Given the description of an element on the screen output the (x, y) to click on. 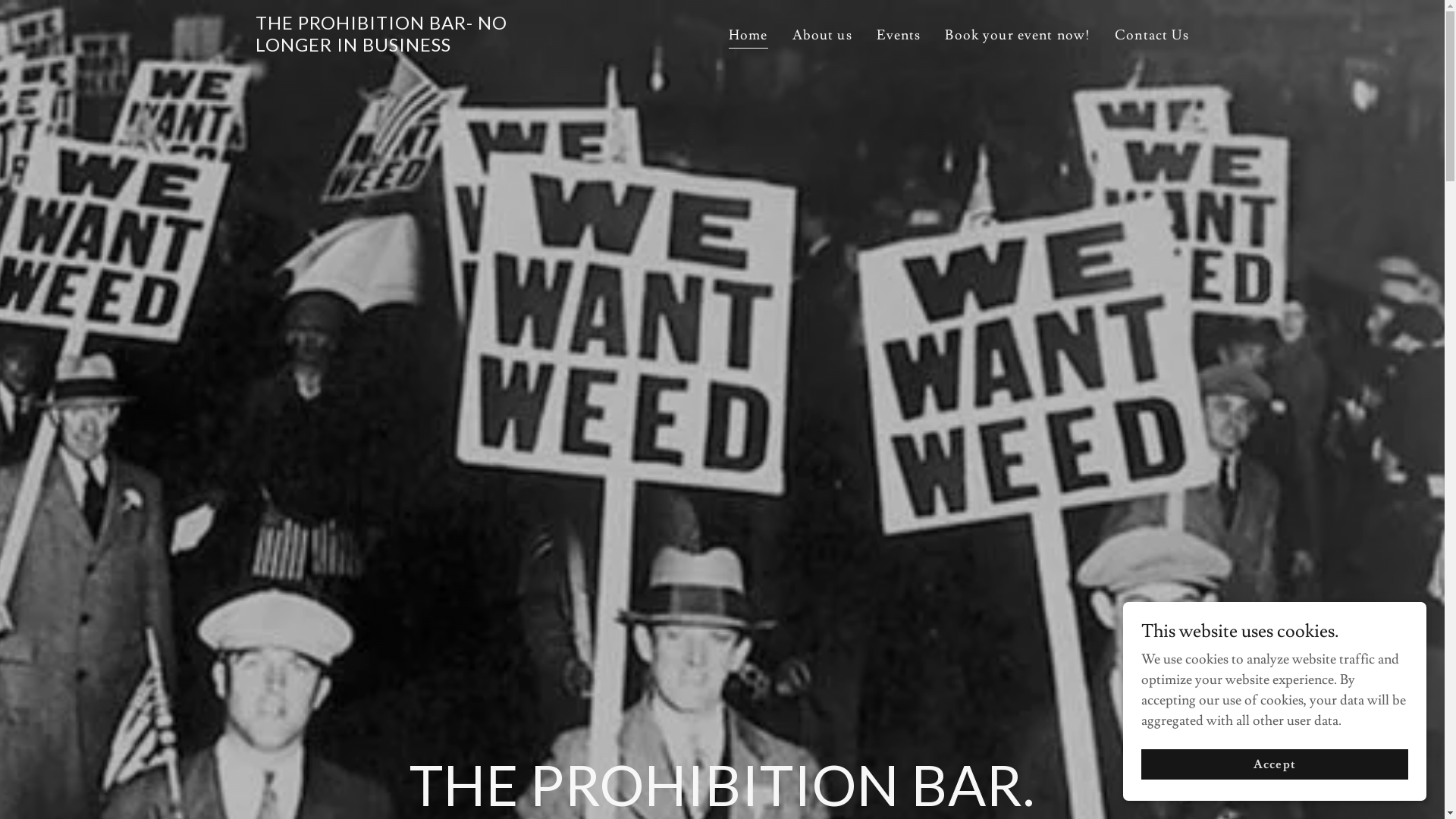
Events Element type: text (898, 35)
Accept Element type: text (1274, 764)
Book your event now! Element type: text (1017, 35)
Home Element type: text (748, 37)
Contact Us Element type: text (1151, 35)
THE PROHIBITION BAR- NO LONGER IN BUSINESS Element type: text (417, 47)
About us Element type: text (821, 35)
